Given the description of an element on the screen output the (x, y) to click on. 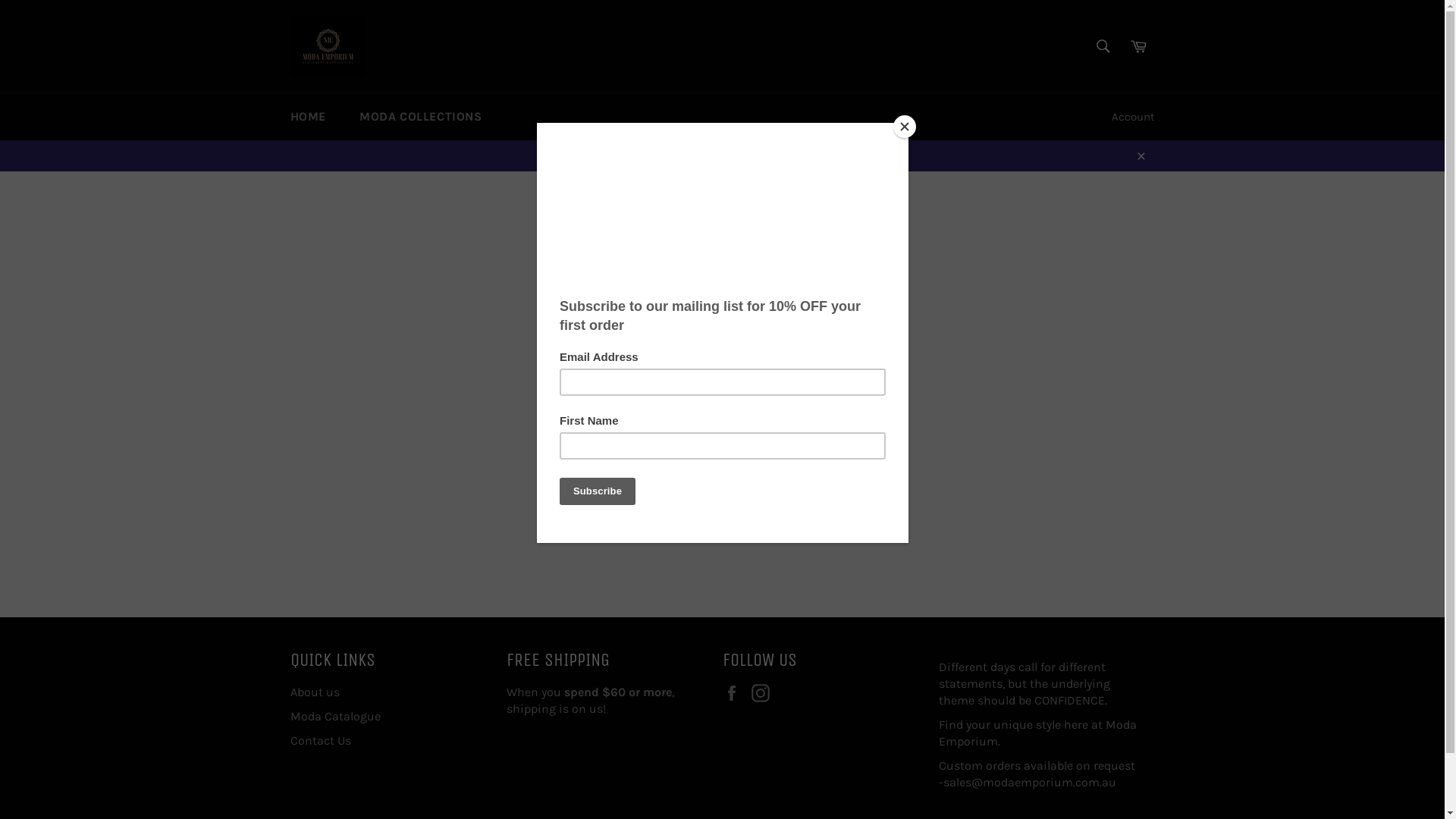
Contact Us Element type: text (319, 740)
CONTINUE SHOPPING Element type: text (722, 430)
MODA COLLECTIONS Element type: text (420, 116)
Account Element type: text (1133, 117)
Cart Element type: text (1138, 46)
Search Element type: text (1102, 46)
Facebook Element type: text (734, 693)
Moda Catalogue Element type: text (334, 716)
Instagram Element type: text (763, 693)
Close Element type: text (1139, 155)
HOME Element type: text (307, 116)
About us Element type: text (313, 691)
